Given the description of an element on the screen output the (x, y) to click on. 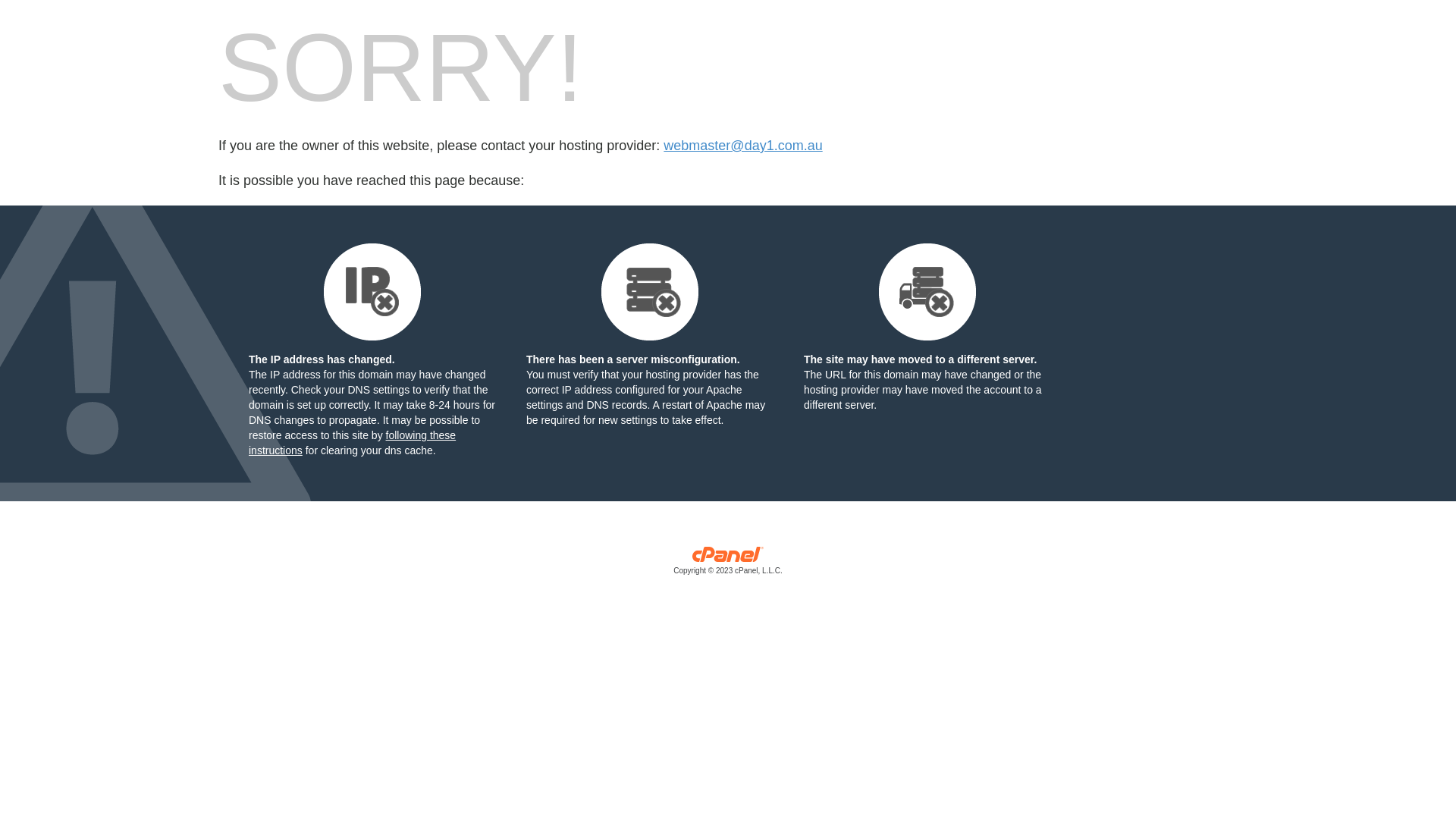
webmaster@day1.com.au Element type: text (742, 145)
following these instructions Element type: text (351, 442)
